Given the description of an element on the screen output the (x, y) to click on. 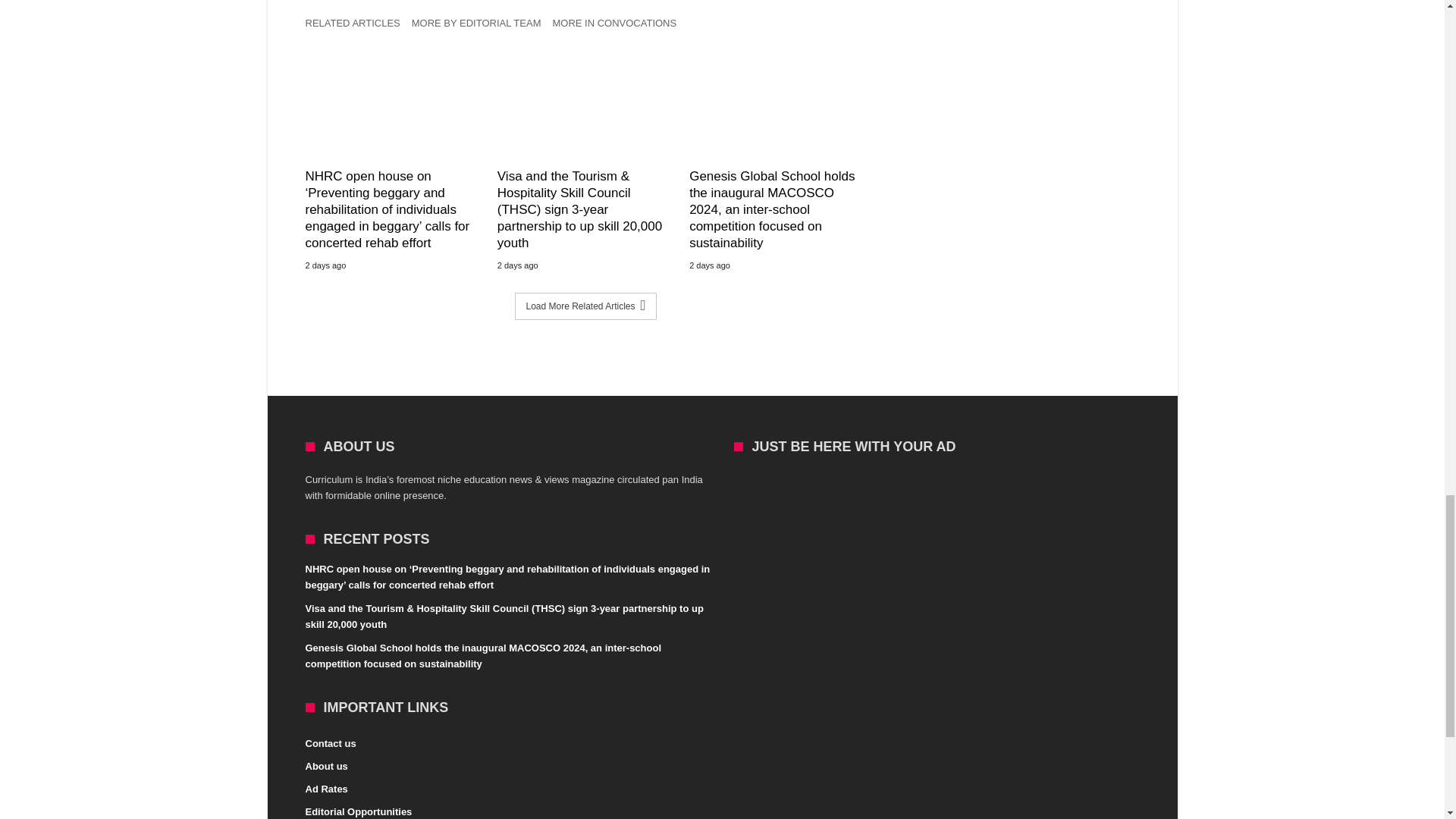
MORE BY EDITORIAL TEAM (482, 26)
MORE IN CONVOCATIONS (619, 26)
RELATED ARTICLES (357, 26)
